Given the description of an element on the screen output the (x, y) to click on. 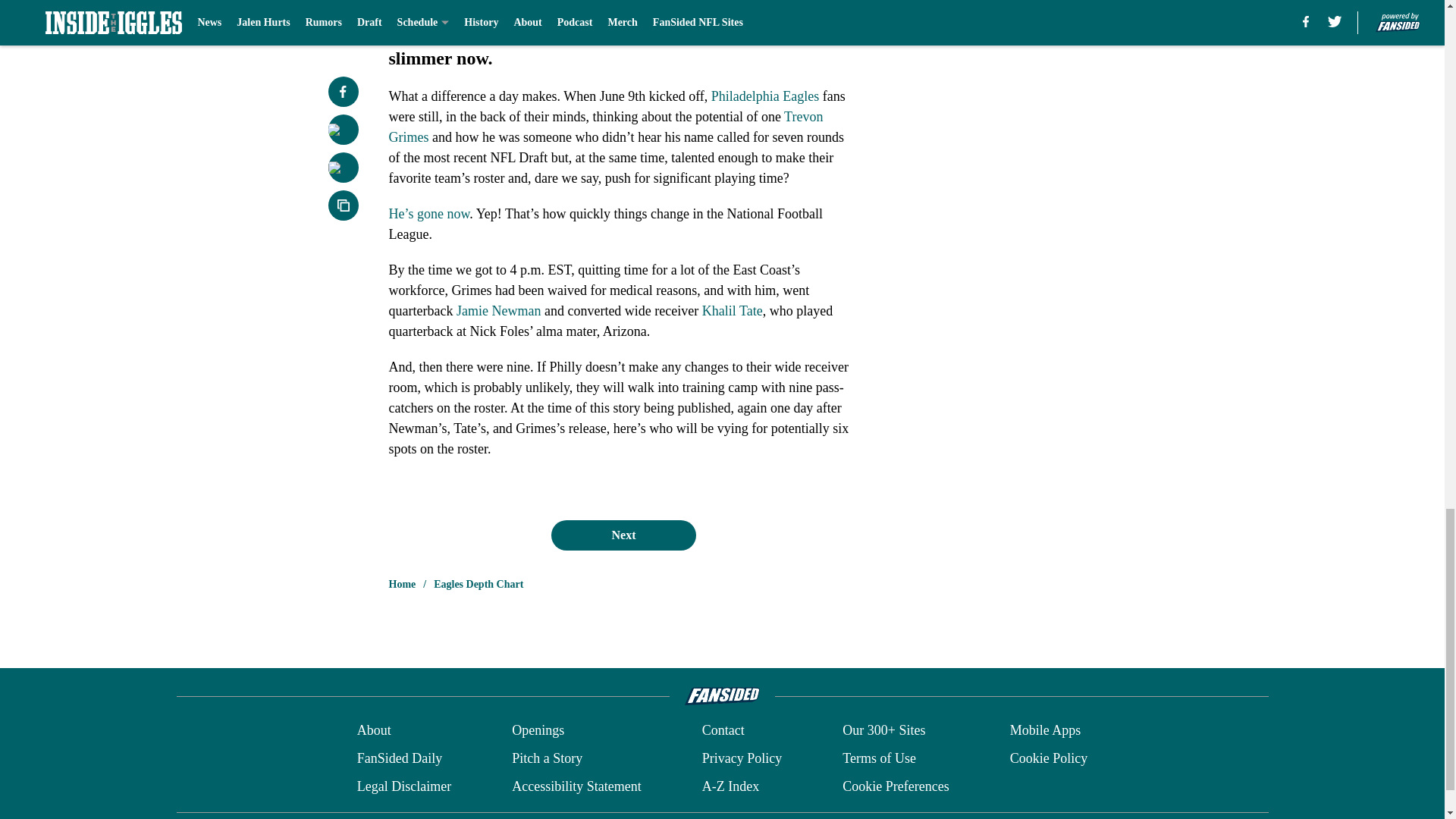
FanSided Daily (399, 758)
Trevon Grimes (605, 126)
Philadelphia Eagles (764, 96)
Contact (722, 730)
About (373, 730)
Home (401, 584)
Pitch a Story (547, 758)
Next (622, 535)
Jamie Newman (498, 310)
Eagles Depth Chart (477, 584)
